Given the description of an element on the screen output the (x, y) to click on. 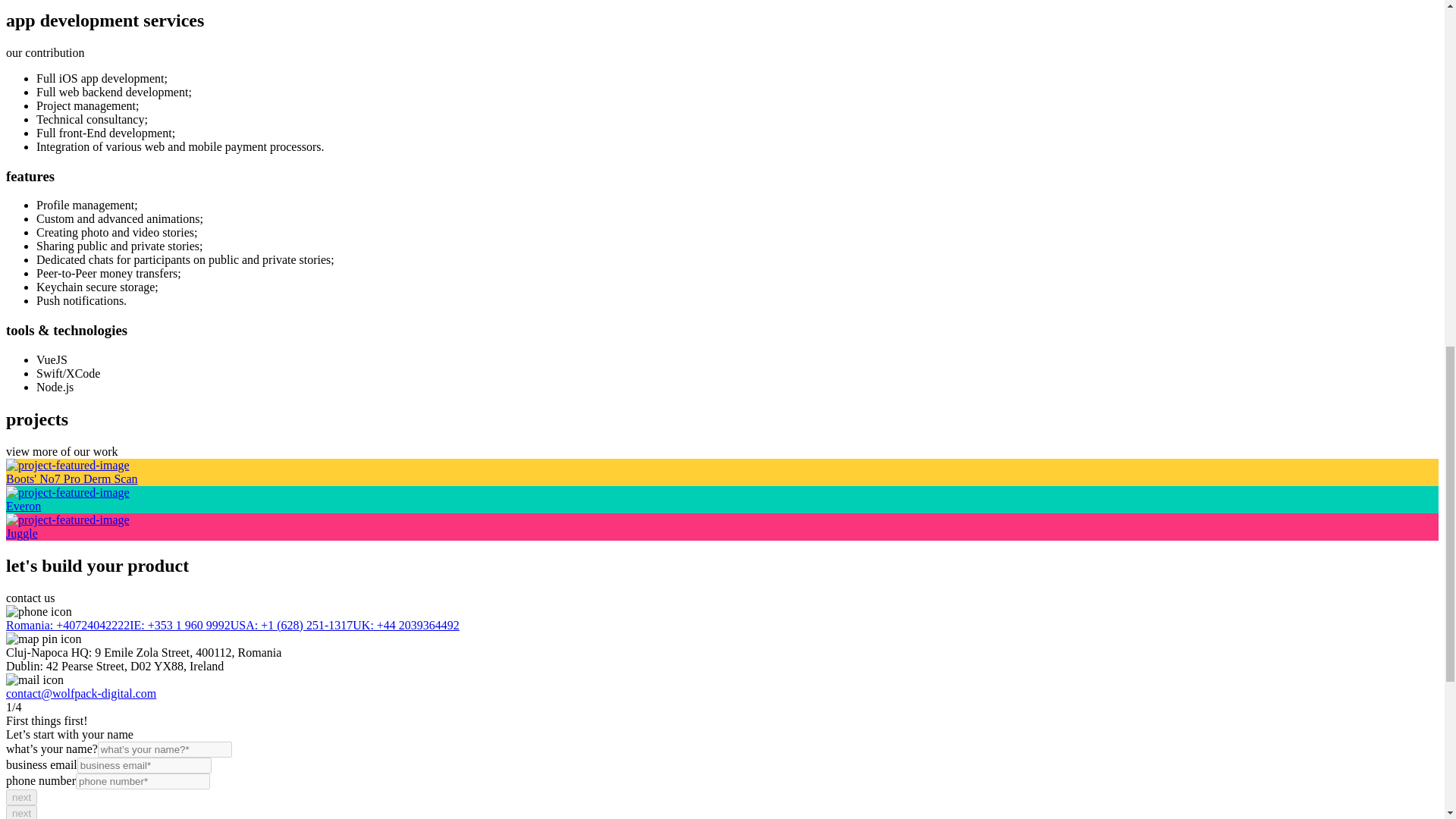
next (21, 796)
next (21, 812)
